Given the description of an element on the screen output the (x, y) to click on. 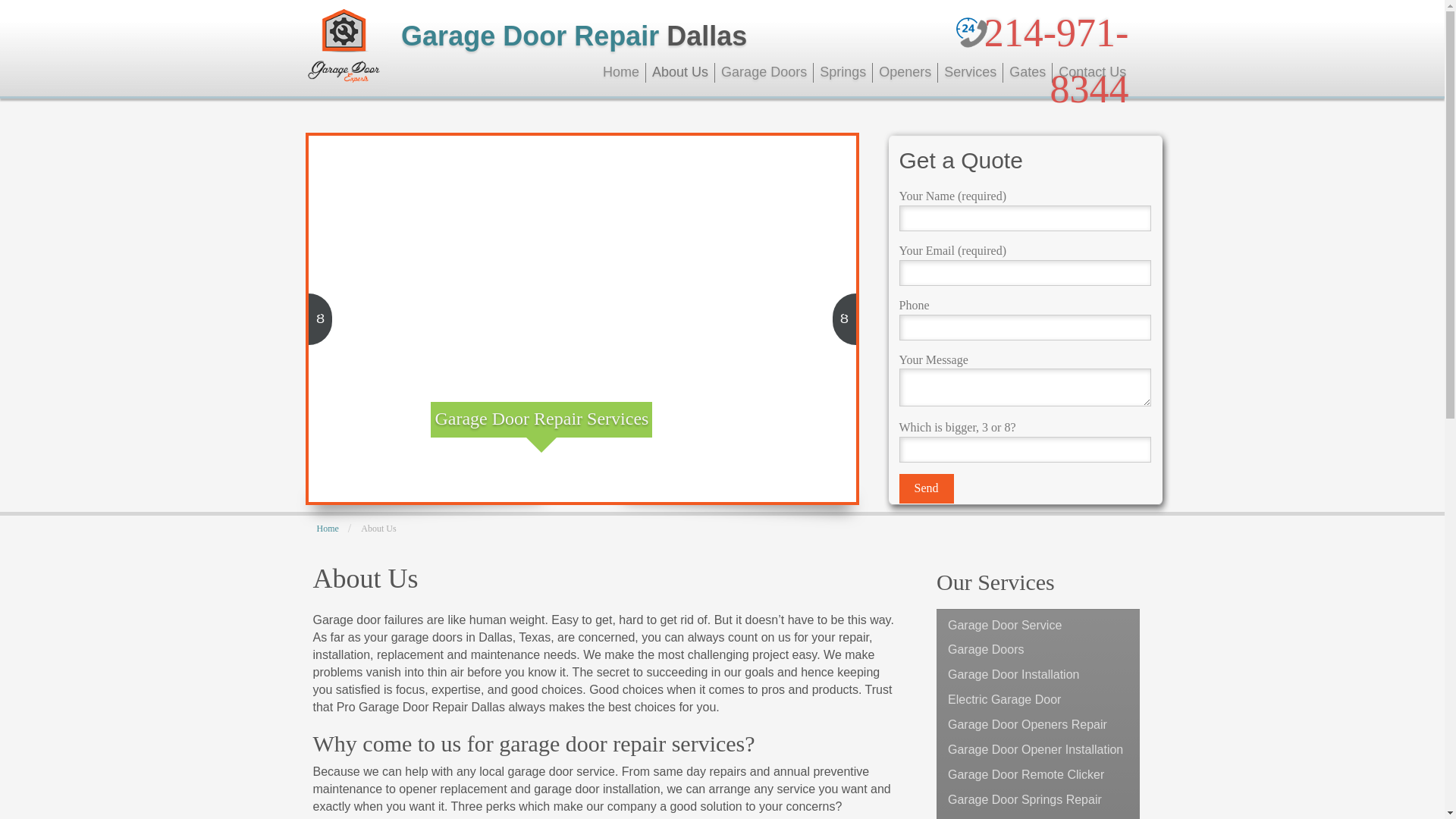
About Us (680, 72)
Send (926, 488)
Home (621, 72)
Services (970, 72)
Springs (842, 72)
Openers (904, 72)
Garage Doors (763, 72)
214-971-8344 (1056, 60)
